Given the description of an element on the screen output the (x, y) to click on. 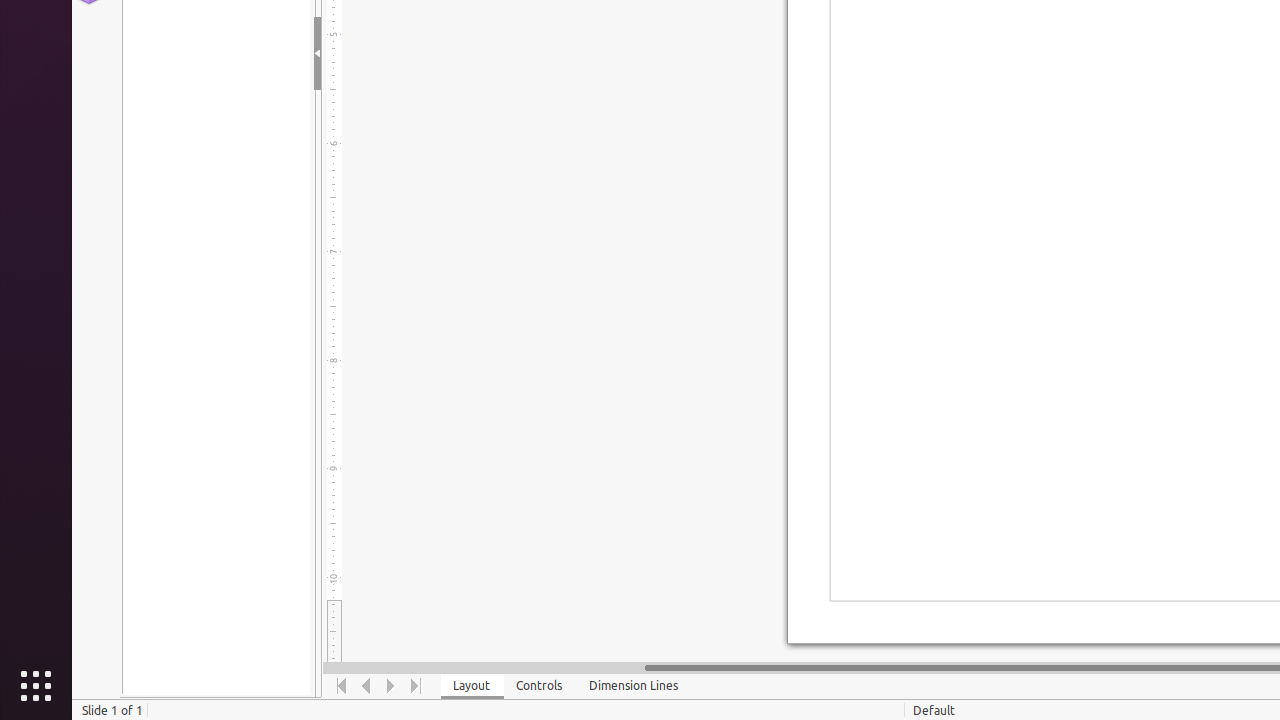
Move Right Element type: push-button (391, 686)
Move To End Element type: push-button (416, 686)
